Given the description of an element on the screen output the (x, y) to click on. 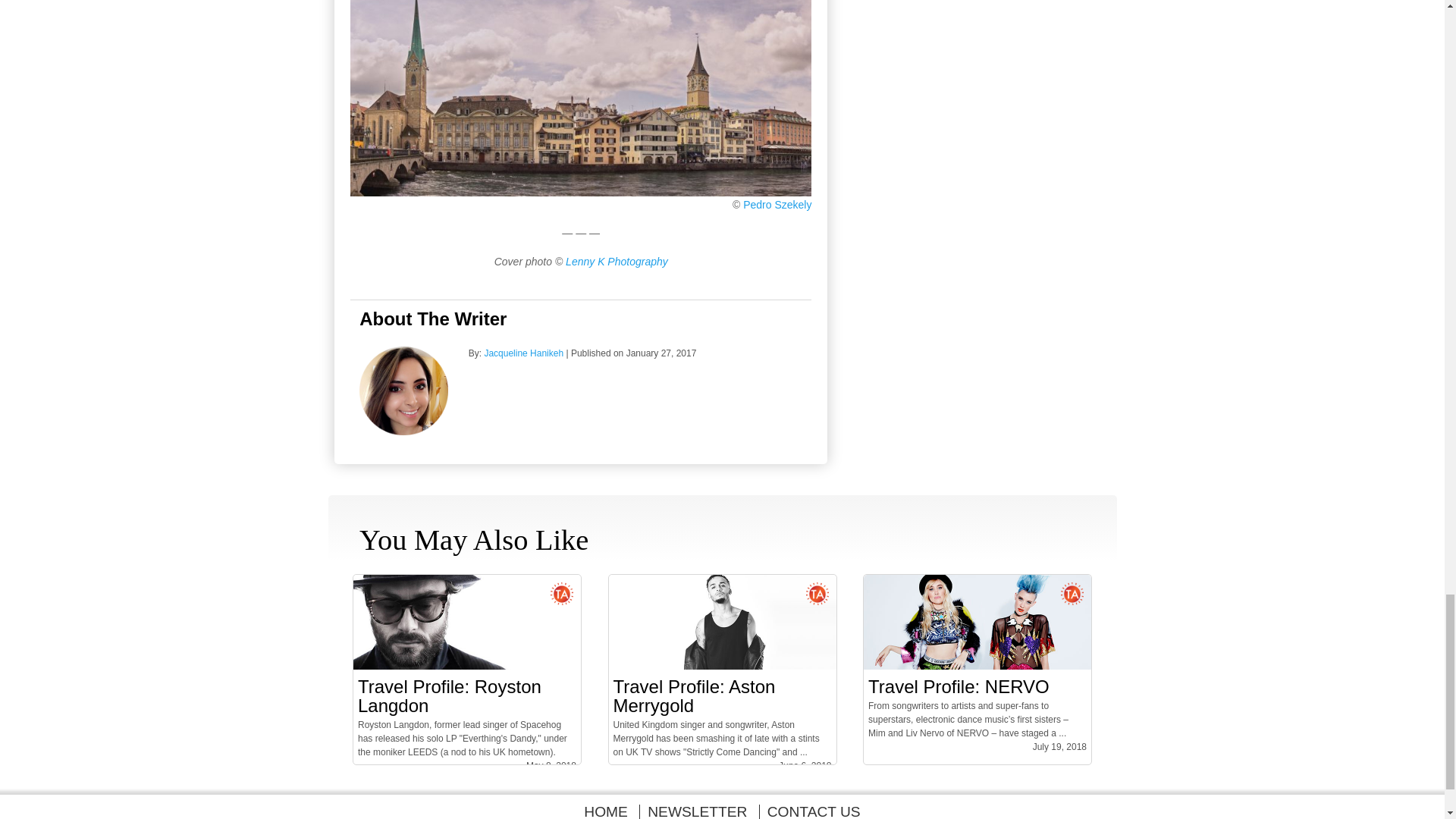
Pedro Szekely (776, 204)
Lenny K Photography (617, 261)
Travel Profile: Aston Merrygold (693, 695)
Travel Profile: Royston Langdon (449, 695)
Jacqueline Hanikeh (403, 431)
Travel Profile: Aston Merrygold (721, 665)
Jacqueline Hanikeh (523, 353)
Travel Profile: Royston Langdon (466, 665)
Jacqueline Hanikeh (523, 353)
